Given the description of an element on the screen output the (x, y) to click on. 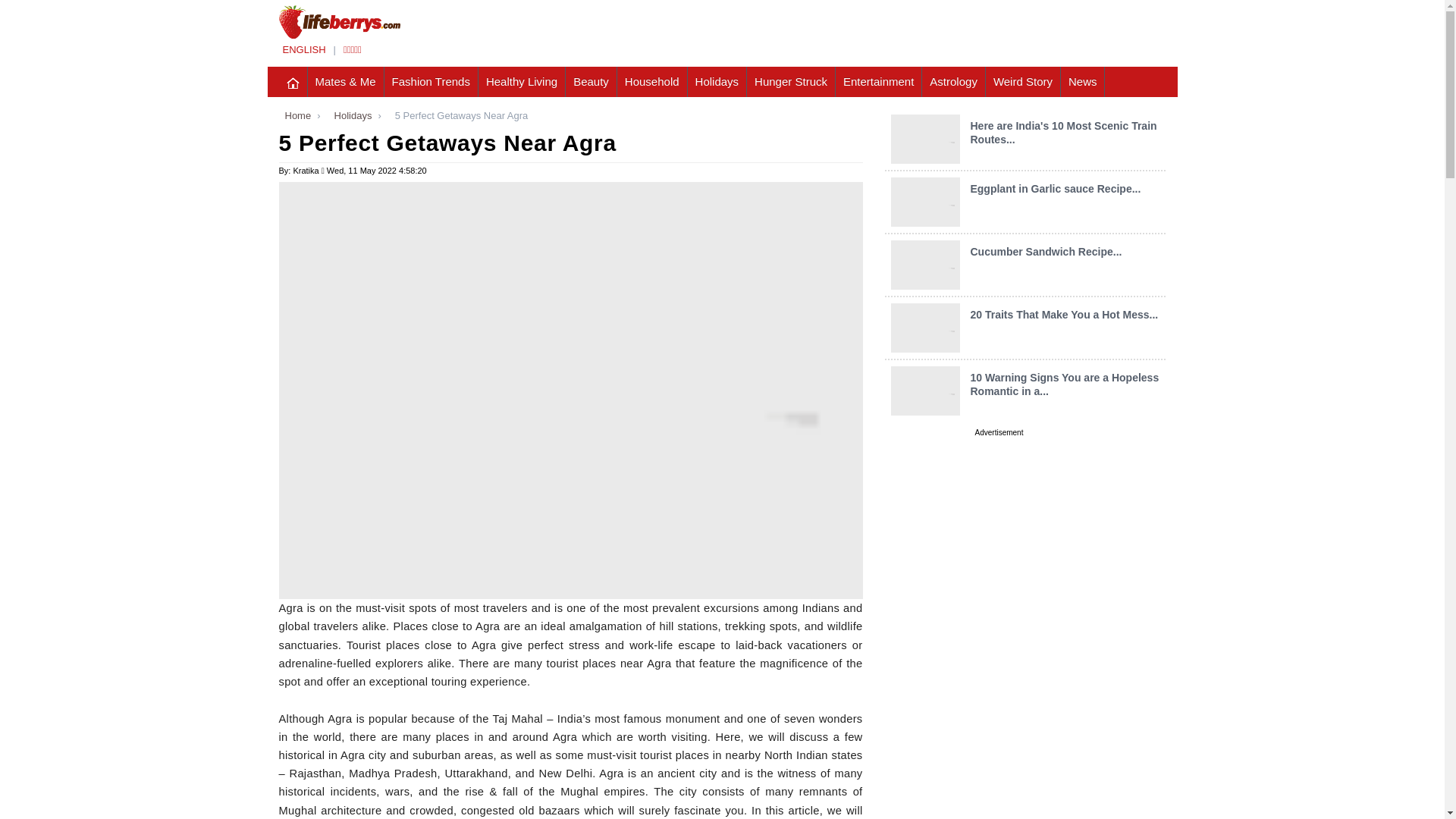
Holidays, Travel (717, 81)
Here are India's 10 Most Scenic Train Routes... (1062, 132)
Astrology (953, 81)
Beauty, Beauty Tips, Beauty Care (591, 81)
Astrology, Jyotish (953, 81)
10 Warning Signs You are a Hopeless Romantic in a... (1063, 384)
Fashion Trends (431, 81)
Fashion Trends, Fashion Tips (431, 81)
Beauty (591, 81)
ENGLISH (303, 49)
Hunger Struck (790, 81)
Entertainment (878, 81)
Healthy Living (522, 81)
Holidays (350, 115)
Health Tips, Healthy Living (522, 81)
